Given the description of an element on the screen output the (x, y) to click on. 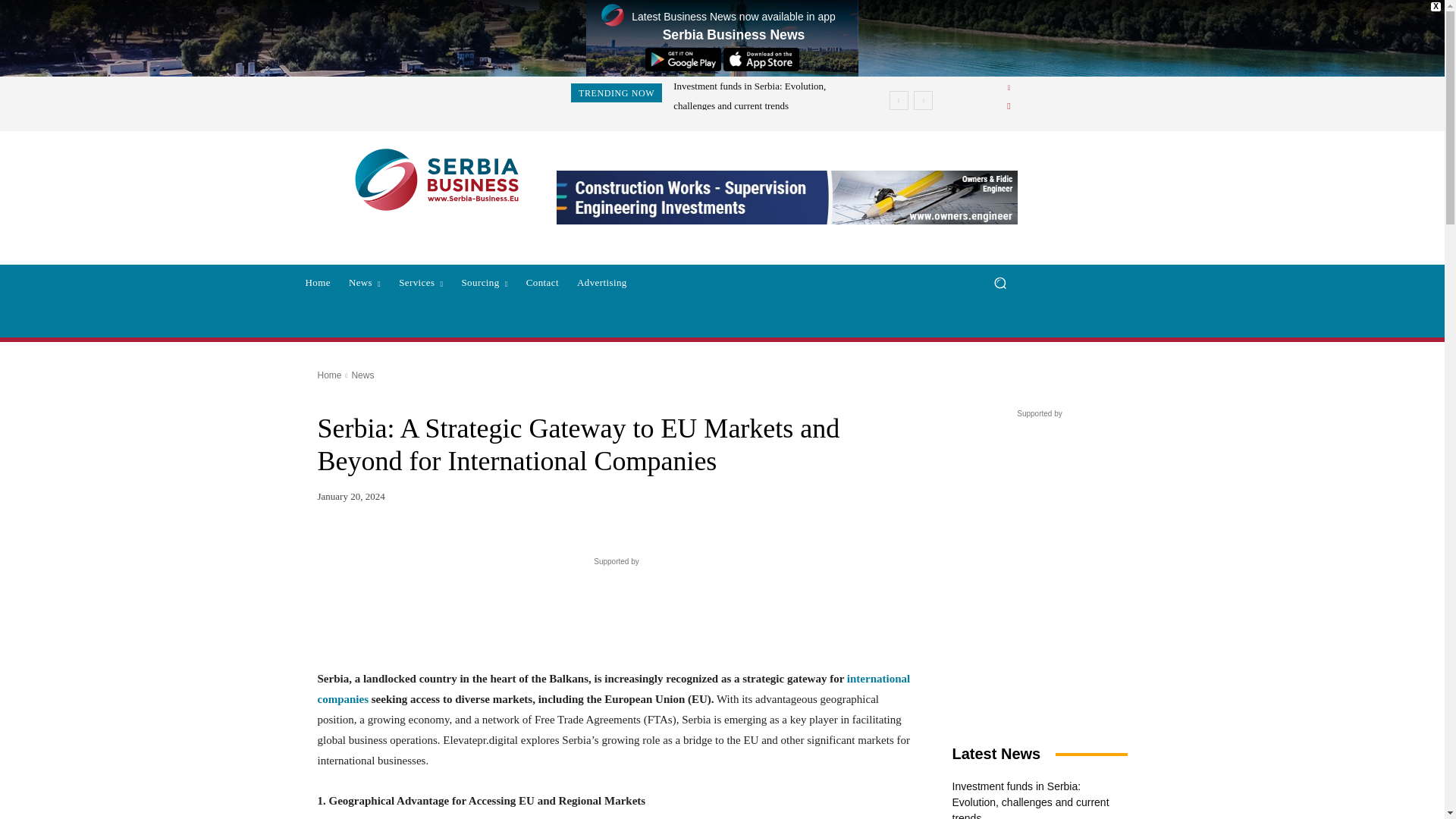
Contact (541, 282)
Services (420, 282)
News (364, 282)
Home (317, 282)
Advertising (601, 282)
Linkedin (1007, 87)
Sourcing (483, 282)
View all posts in News (362, 375)
Twitter (1007, 106)
